Given the description of an element on the screen output the (x, y) to click on. 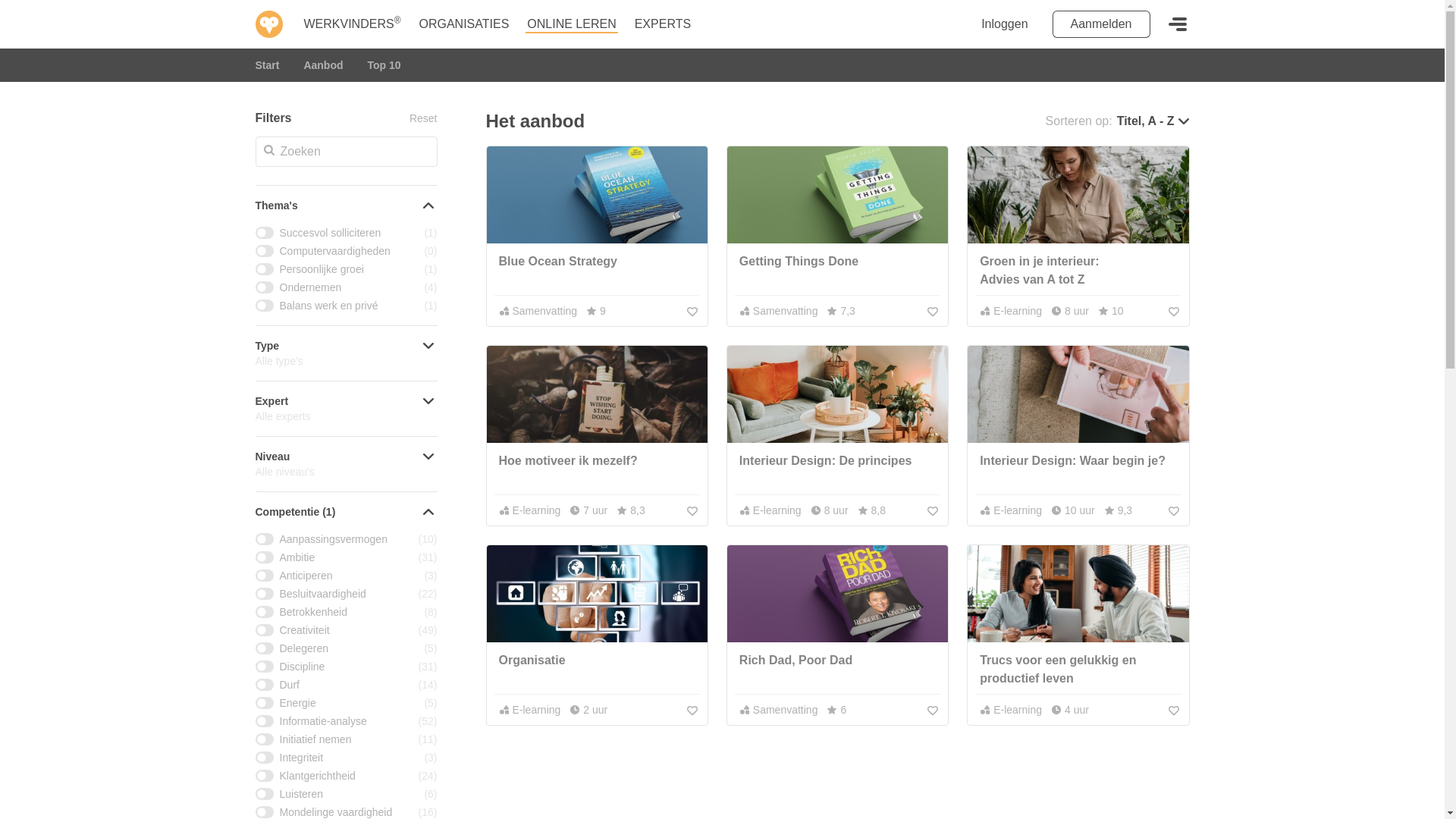
EXPERTS Element type: text (662, 24)
Top 10 Element type: text (384, 64)
Niveau
Alle niveau's Element type: text (345, 463)
Aanbod Element type: text (322, 64)
Type
Alle type's Element type: text (345, 353)
ORGANISATIES Element type: text (463, 24)
Start Element type: text (266, 64)
ONLINE LEREN Element type: text (570, 24)
Competentie 1 Element type: text (345, 511)
Expert
Alle experts Element type: text (345, 408)
Aanmelden Element type: text (1101, 23)
Inloggen Element type: text (1004, 23)
Reset Element type: text (423, 118)
Thema's Element type: text (345, 205)
